Given the description of an element on the screen output the (x, y) to click on. 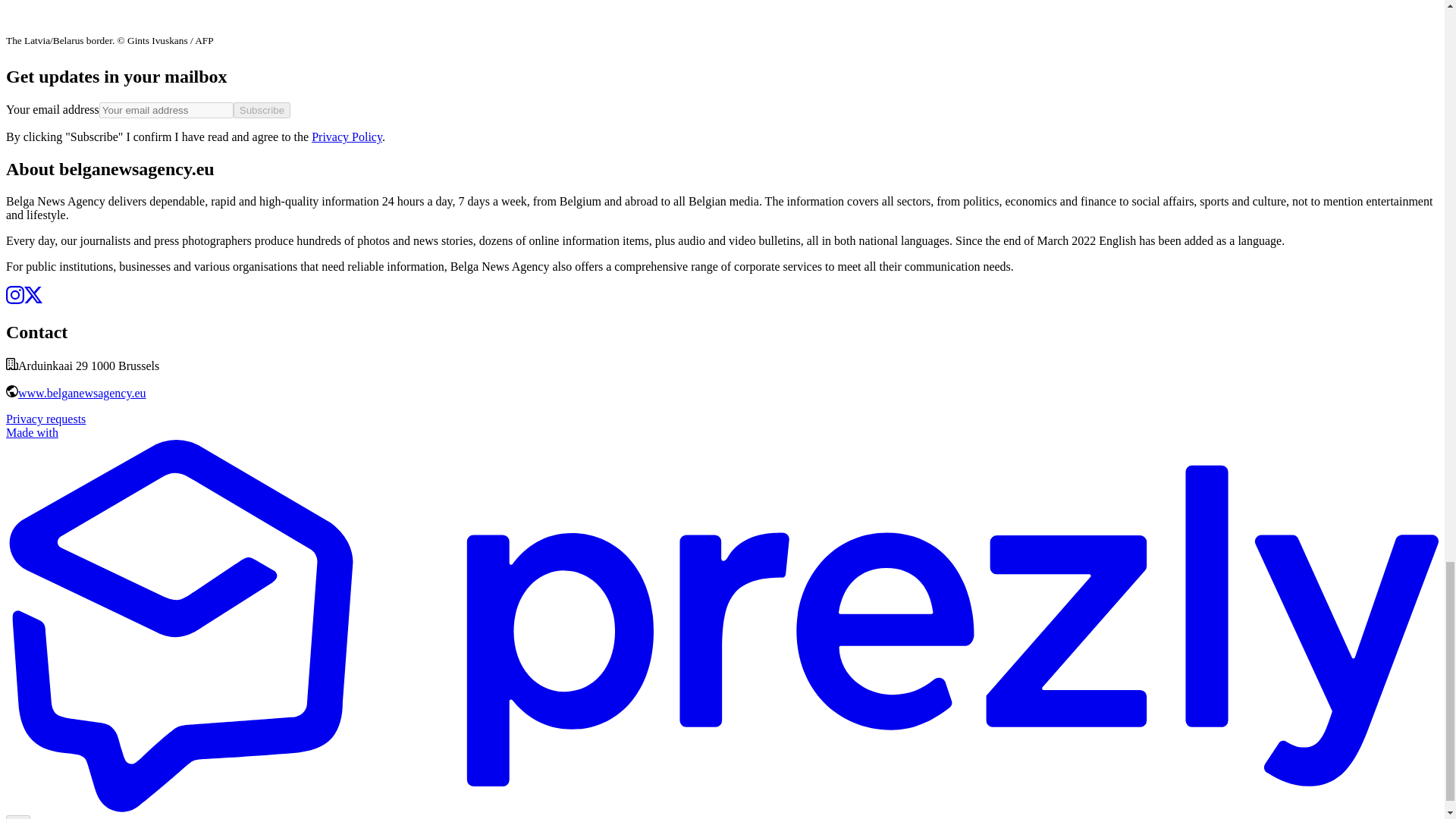
Subscribe (260, 109)
Privacy requests (45, 418)
X (33, 299)
Instagram (14, 299)
www.belganewsagency.eu (82, 392)
Privacy Policy (346, 136)
